Given the description of an element on the screen output the (x, y) to click on. 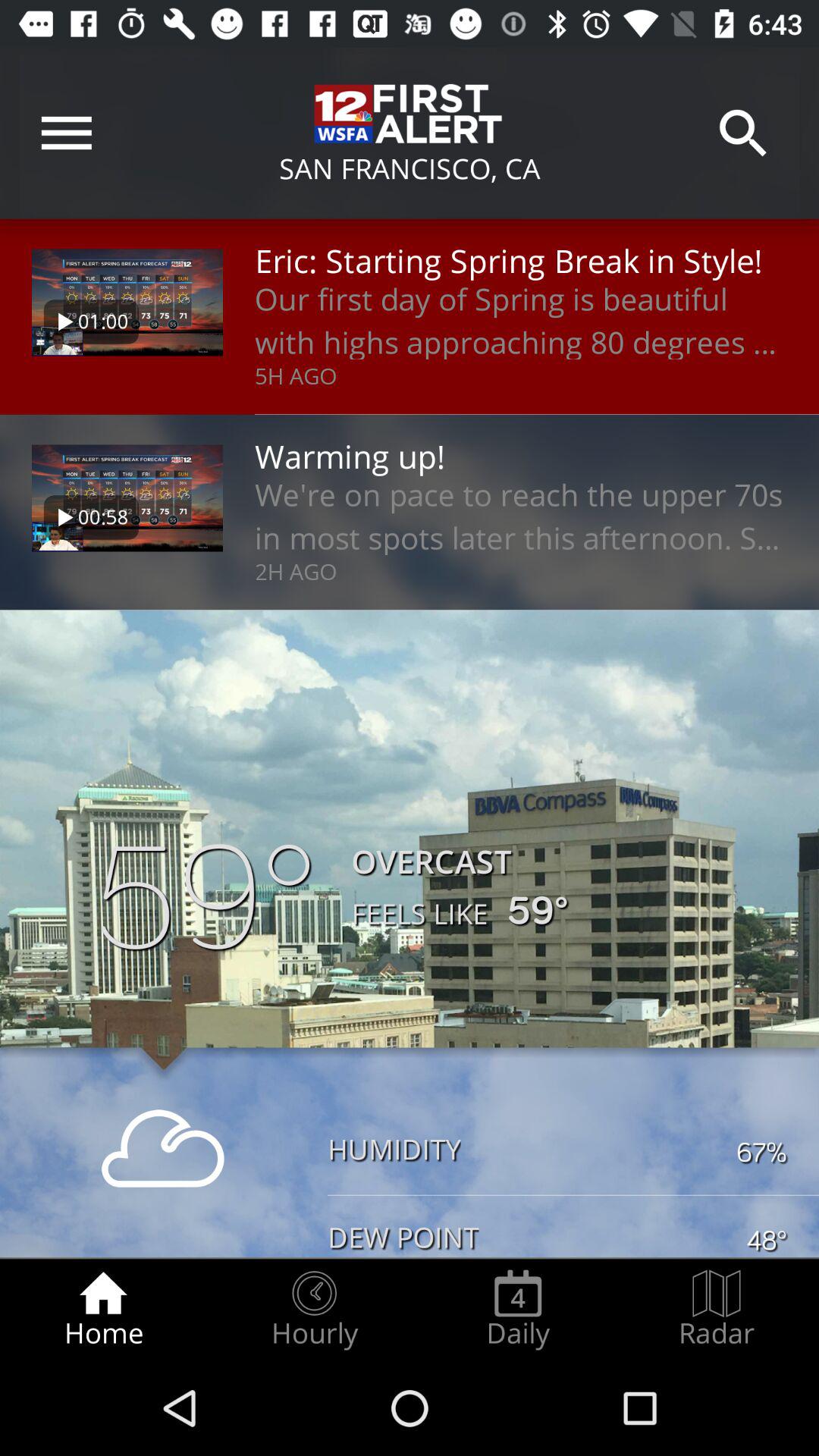
turn off the item to the left of daily item (314, 1309)
